Given the description of an element on the screen output the (x, y) to click on. 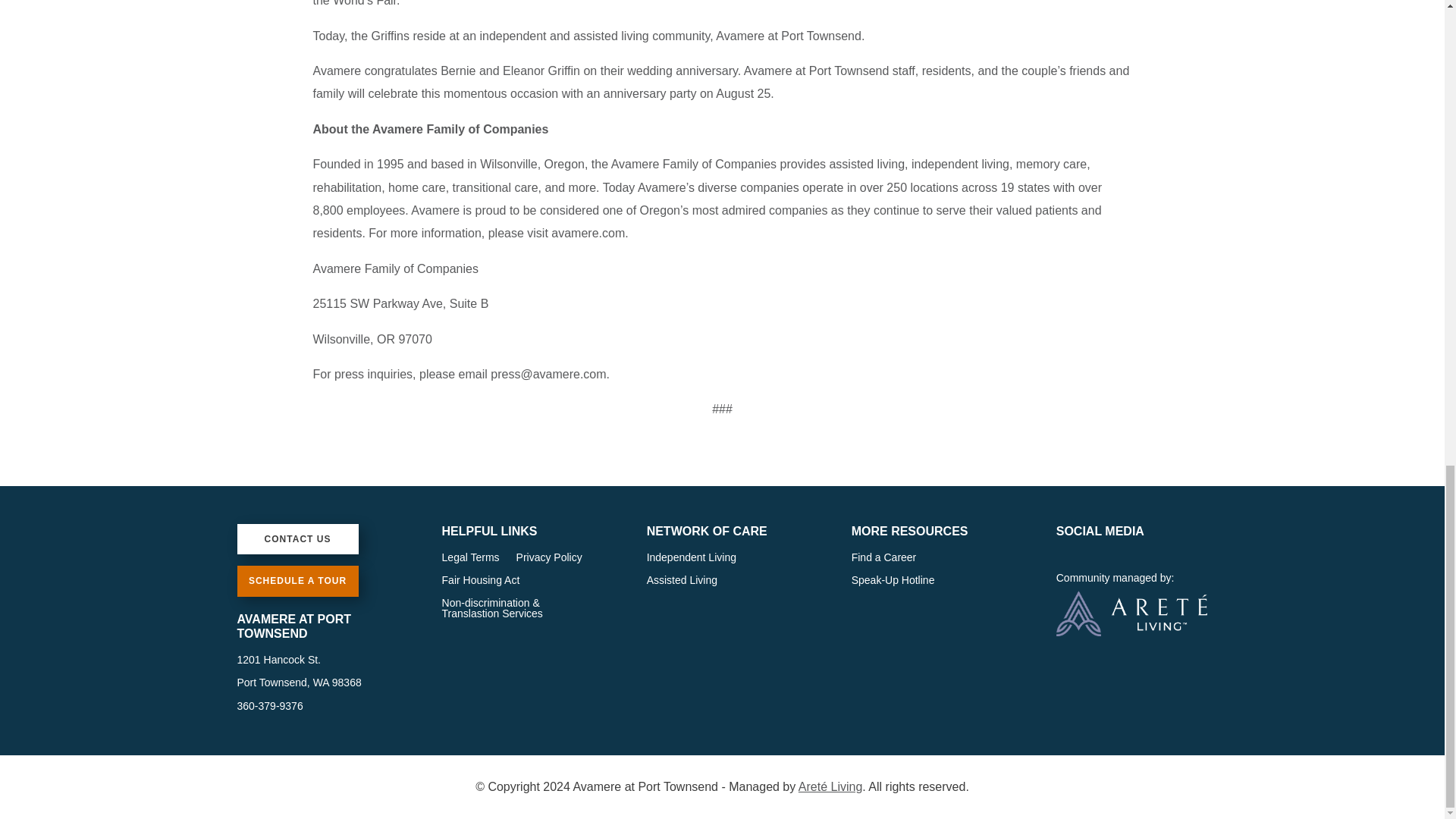
Assisted Living (681, 582)
Fair Housing Act (480, 582)
Independent Living (691, 560)
SCHEDULE A TOUR (296, 580)
Find a Career (884, 560)
Speak-Up Hotline (892, 582)
Legal Terms (470, 560)
Find a Career (884, 560)
Speak-Up Hotline (892, 582)
CONTACT US (296, 539)
360-379-9376 (268, 705)
independent and assisted living community (594, 35)
avamere.com (587, 232)
Privacy Policy (549, 560)
Fair Housing Act (480, 582)
